Given the description of an element on the screen output the (x, y) to click on. 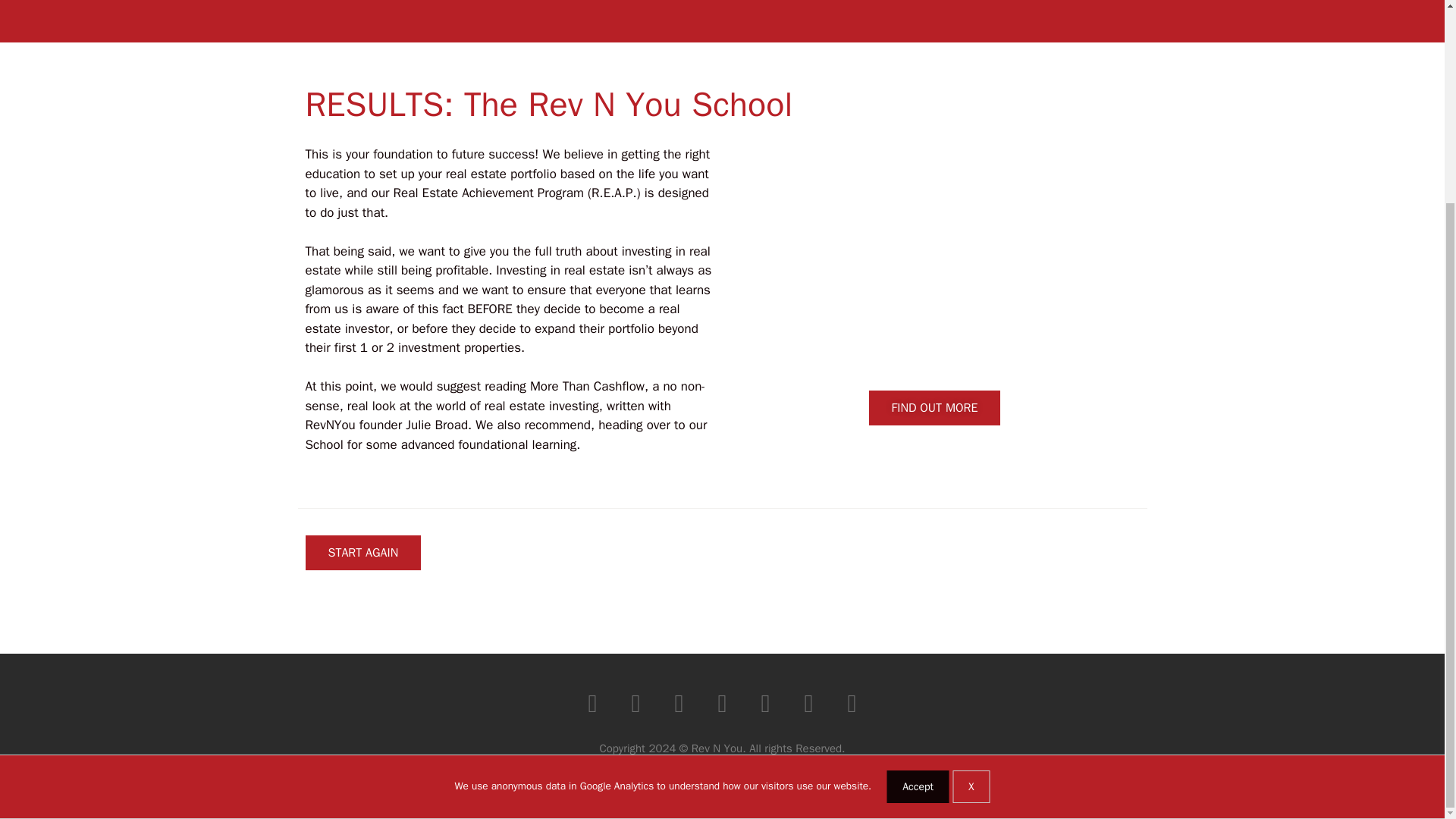
FIND OUT MORE (935, 407)
X (971, 527)
START AGAIN (362, 552)
Designed by Chilli Designs (721, 774)
Accept (917, 527)
